Given the description of an element on the screen output the (x, y) to click on. 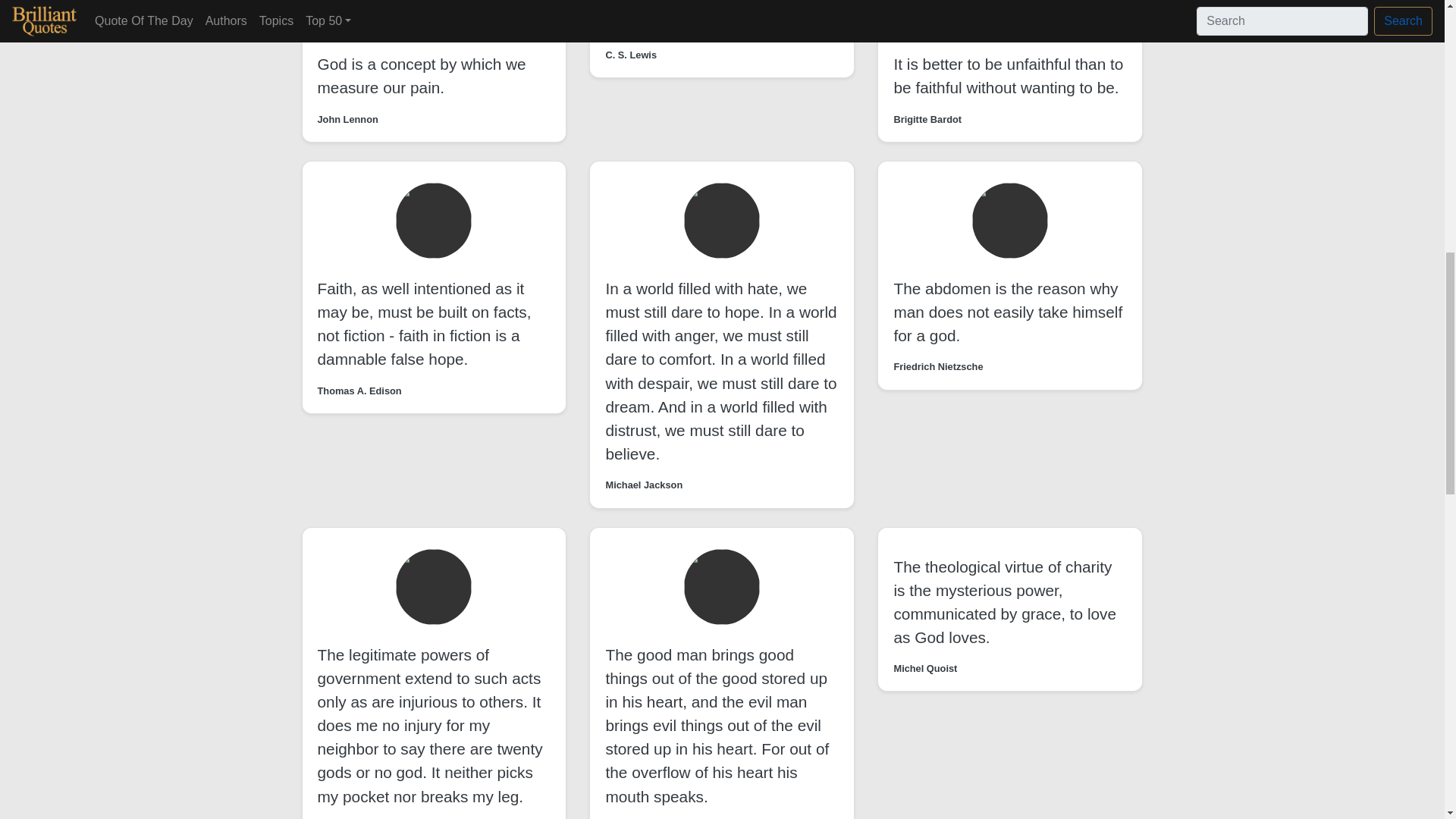
Friedrich Nietzsche (937, 366)
Thomas A. Edison (359, 391)
Brigitte Bardot (926, 119)
C. S. Lewis (630, 54)
John Lennon (347, 119)
God is a concept by which we measure our pain. (421, 75)
Michael Jackson (643, 484)
